Given the description of an element on the screen output the (x, y) to click on. 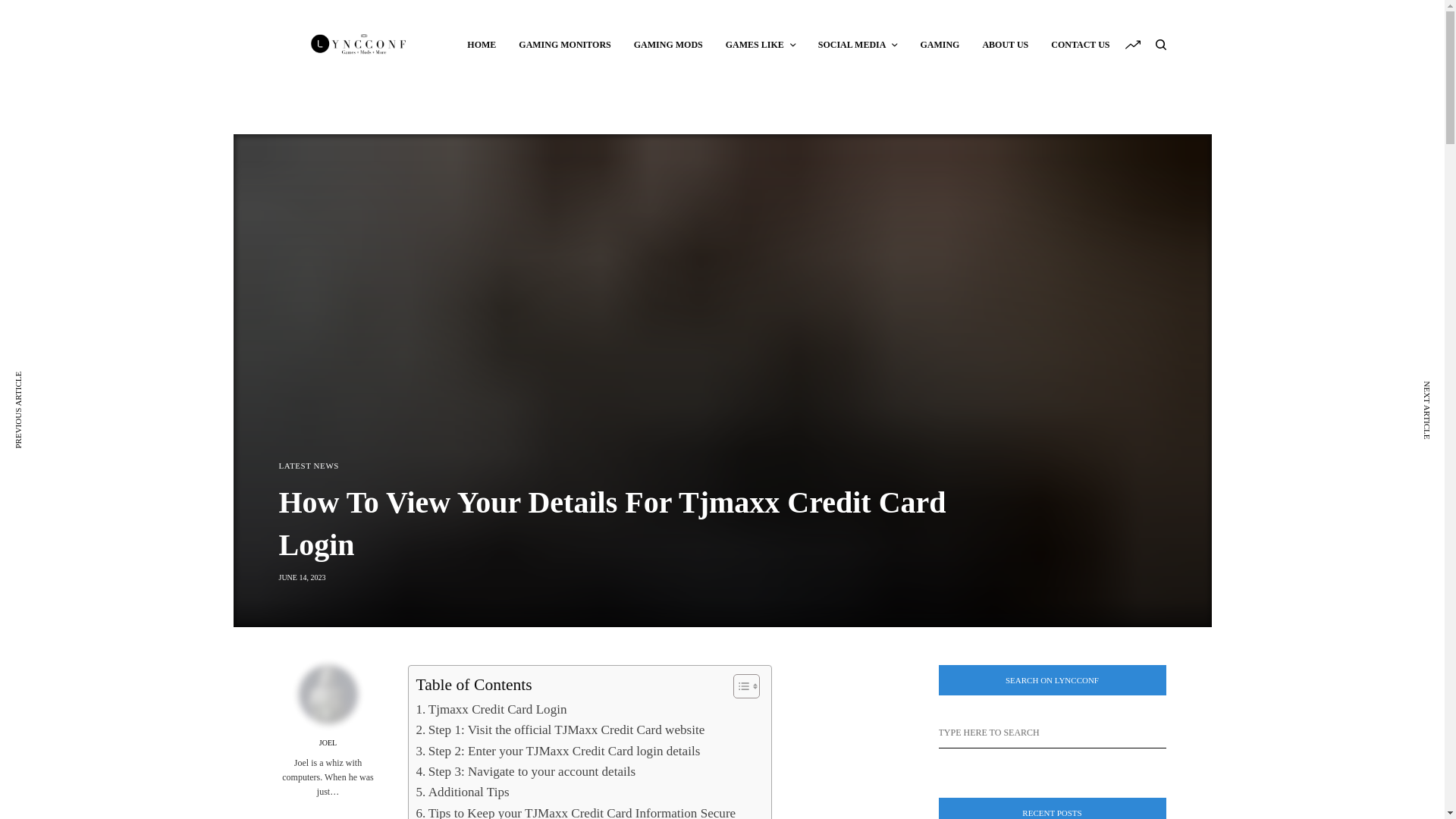
Additional Tips (461, 792)
LATEST NEWS (309, 465)
Step 1: Visit the official TJMaxx Credit Card website (559, 729)
Tjmaxx Credit Card Login (490, 709)
SOCIAL MEDIA (858, 44)
Step 1: Visit the official TJMaxx Credit Card website (559, 729)
Tips to Keep your TJMaxx Credit Card Information Secure (574, 811)
GAMING MONITORS (564, 44)
LyncConf (360, 44)
Tips to Keep your TJMaxx Credit Card Information Secure (574, 811)
Step 2: Enter your TJMaxx Credit Card login details (557, 751)
JOEL (328, 742)
Additional Tips (461, 792)
Step 3: Navigate to your account details (524, 771)
Step 3: Navigate to your account details (524, 771)
